Given the description of an element on the screen output the (x, y) to click on. 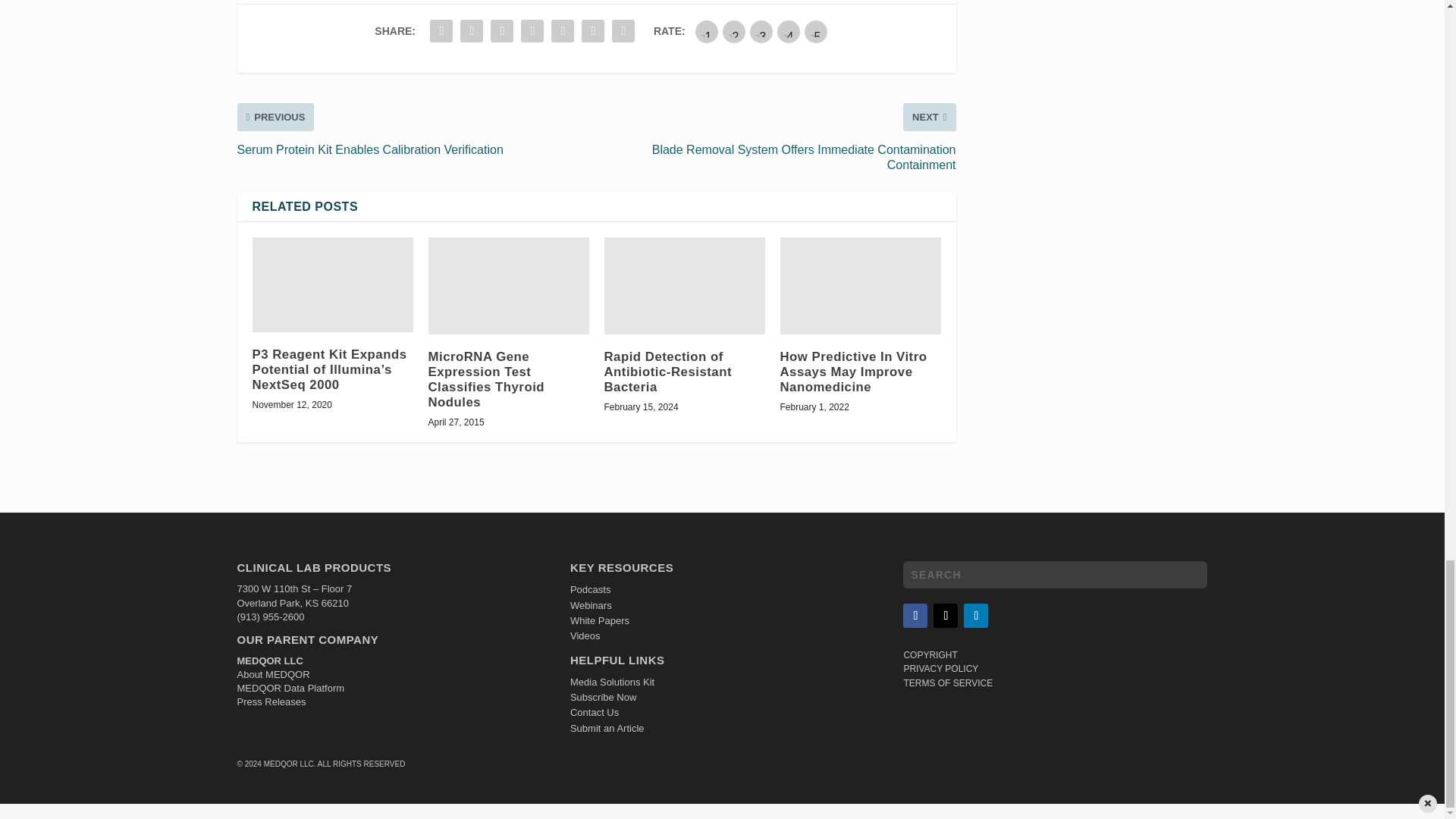
good (788, 31)
regular (761, 31)
gorgeous (816, 31)
poor (733, 31)
